Given the description of an element on the screen output the (x, y) to click on. 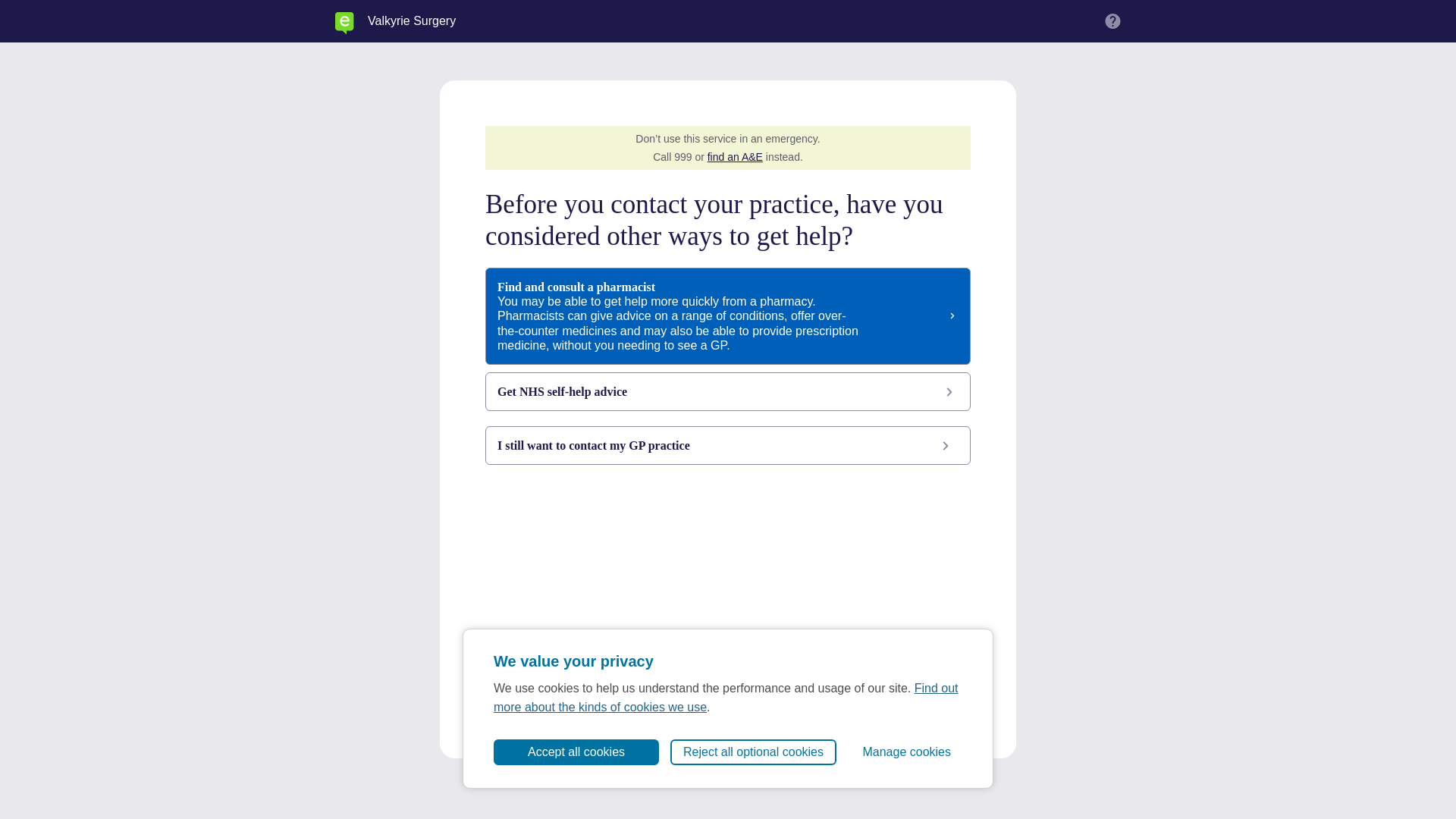
Manage cookies (906, 751)
Valkyrie Surgery (411, 21)
Accept all cookies (576, 751)
I still want to contact my GP practice (727, 445)
MENU (1112, 21)
Reject all optional cookies (752, 751)
Get NHS self-help advice (727, 391)
Find out more about the kinds of cookies we use (725, 697)
